Given the description of an element on the screen output the (x, y) to click on. 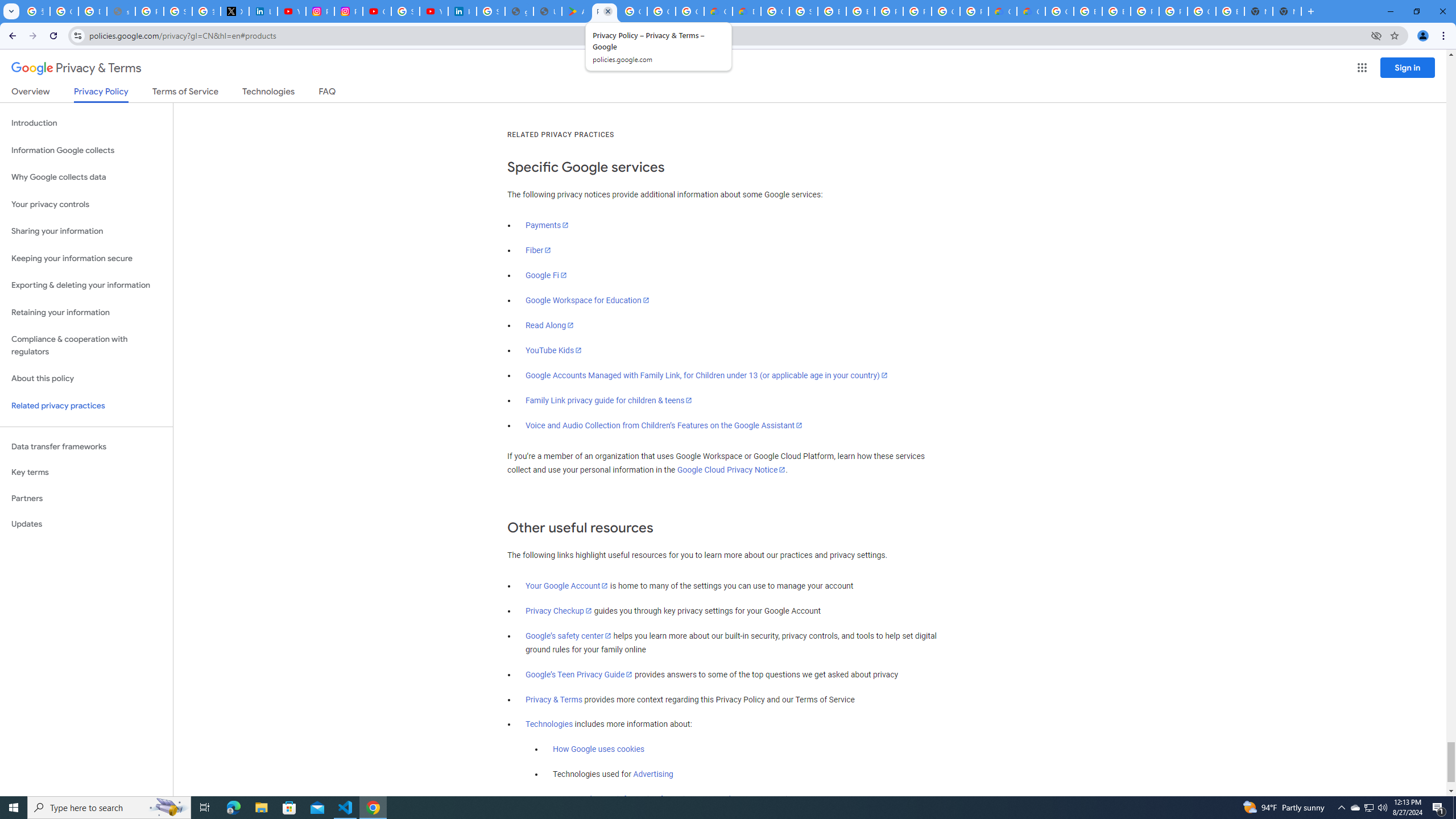
Google Cloud Platform (945, 11)
Introduction (86, 122)
Information Google collects (86, 150)
Google Cloud Estimate Summary (1030, 11)
Third-party cookies blocked (1376, 35)
Customer Care | Google Cloud (718, 11)
Why Google collects data (86, 176)
Google Cloud Platform (774, 11)
Privacy Help Center - Policies Help (148, 11)
